Given the description of an element on the screen output the (x, y) to click on. 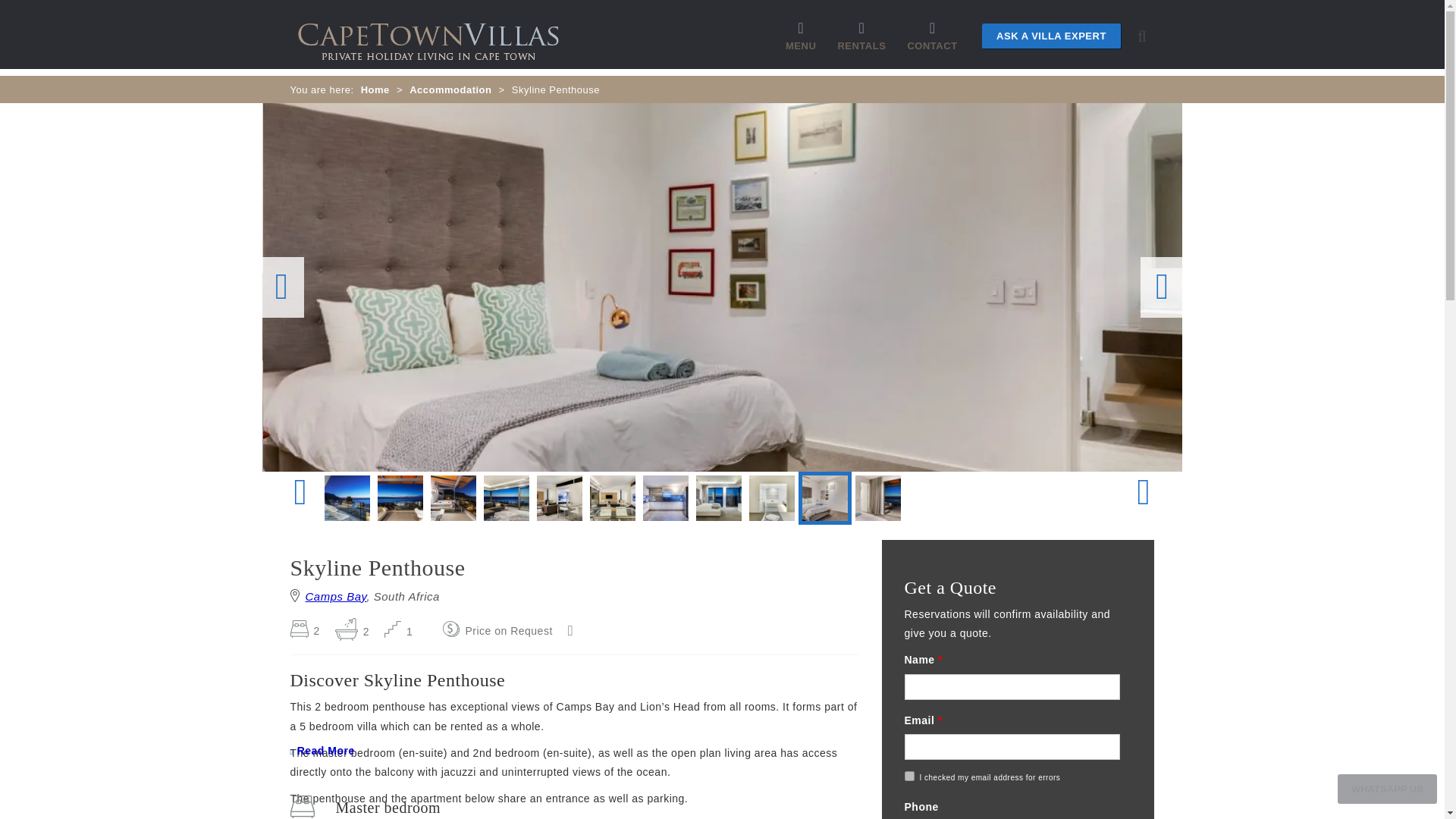
I checked my email address for errors (909, 776)
RENTALS (861, 46)
Levels (398, 631)
Bedrooms (303, 631)
Bathrooms (351, 632)
MENU (800, 46)
